Given the description of an element on the screen output the (x, y) to click on. 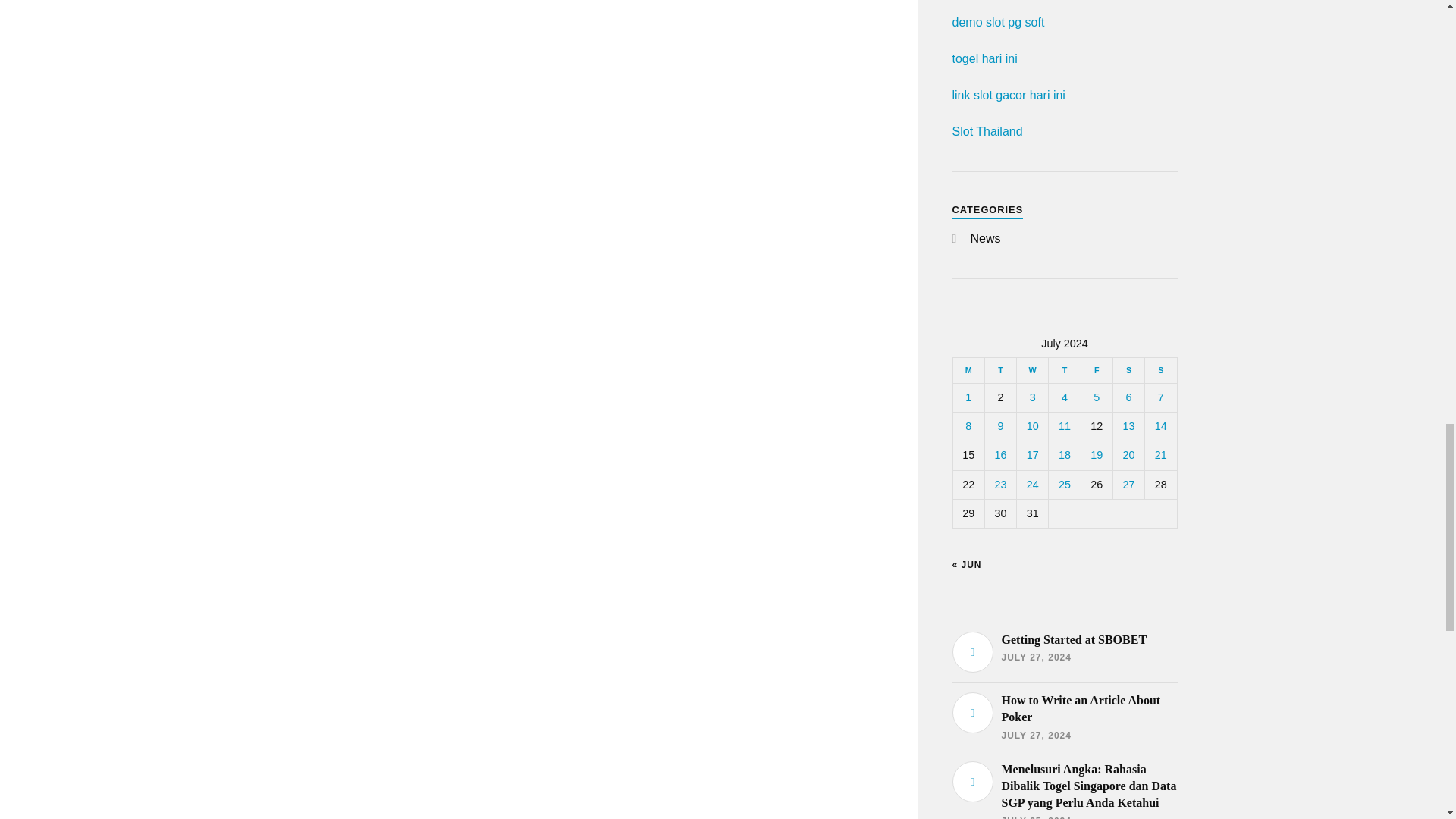
Sunday (1160, 370)
Friday (1096, 370)
Tuesday (1000, 370)
Saturday (1128, 370)
Thursday (1064, 370)
Monday (968, 370)
Wednesday (1032, 370)
